Given the description of an element on the screen output the (x, y) to click on. 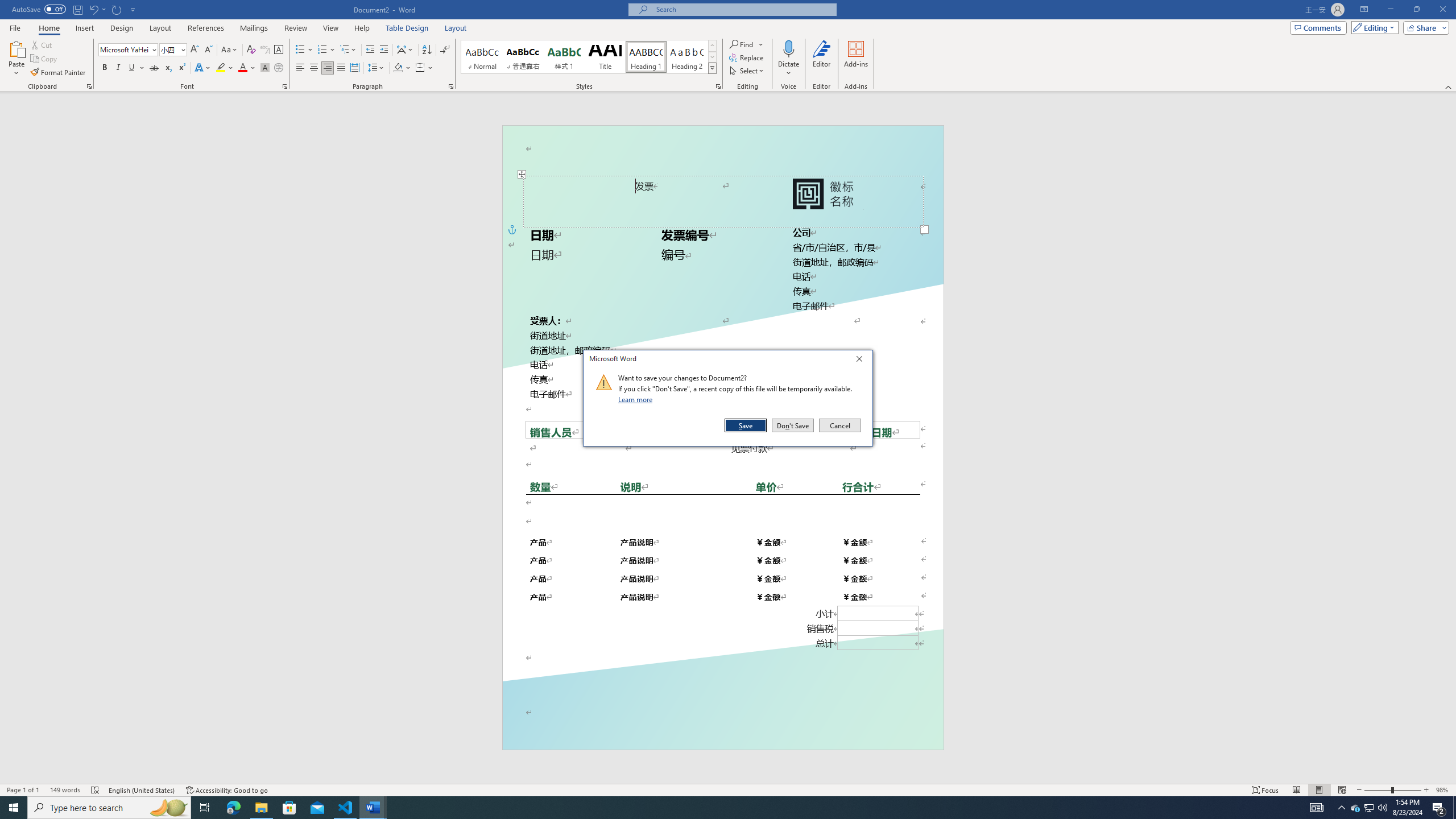
Running applications (717, 807)
